Given the description of an element on the screen output the (x, y) to click on. 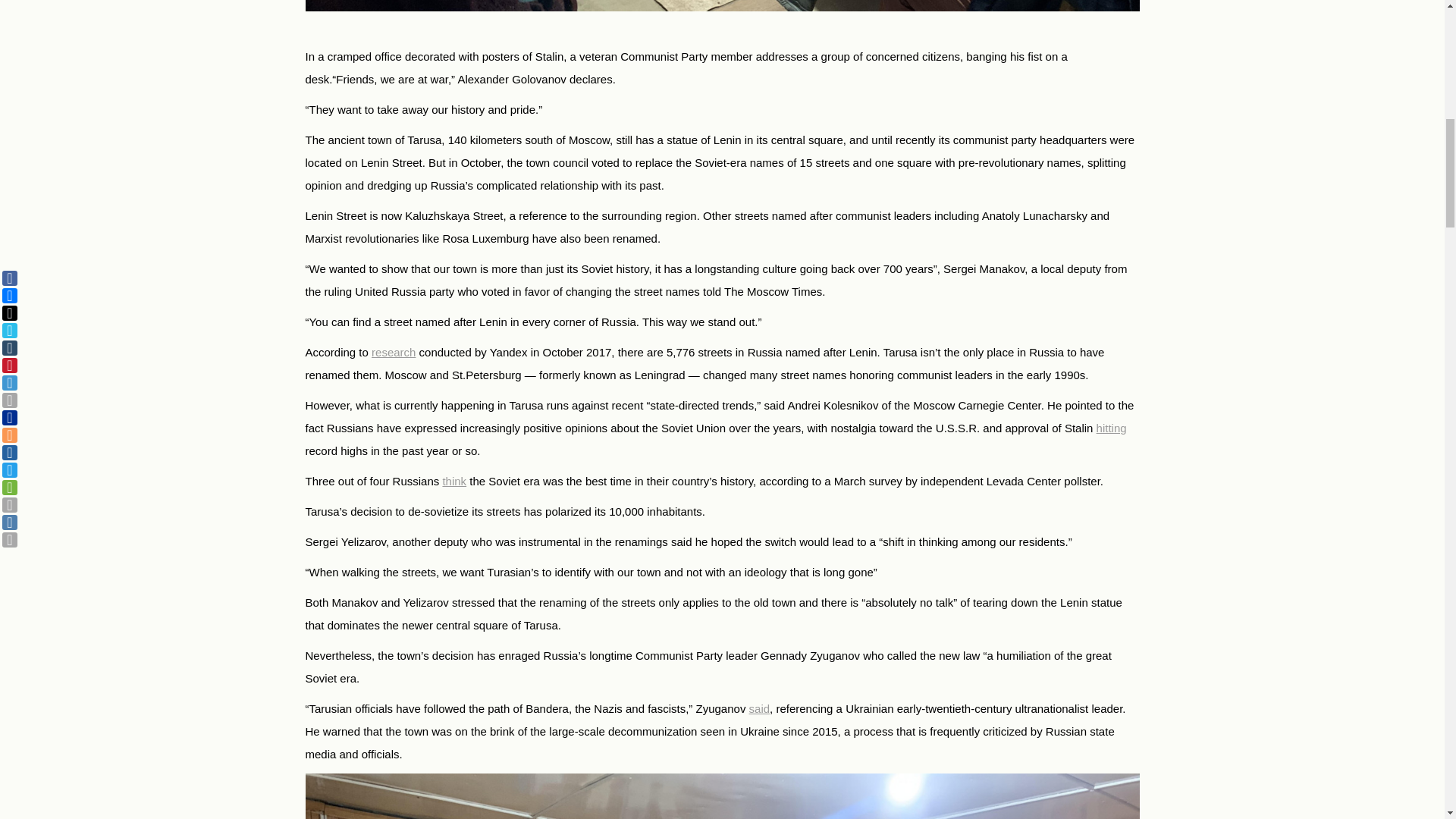
think (453, 481)
research (392, 351)
said (759, 707)
hitting (1111, 427)
